Given the description of an element on the screen output the (x, y) to click on. 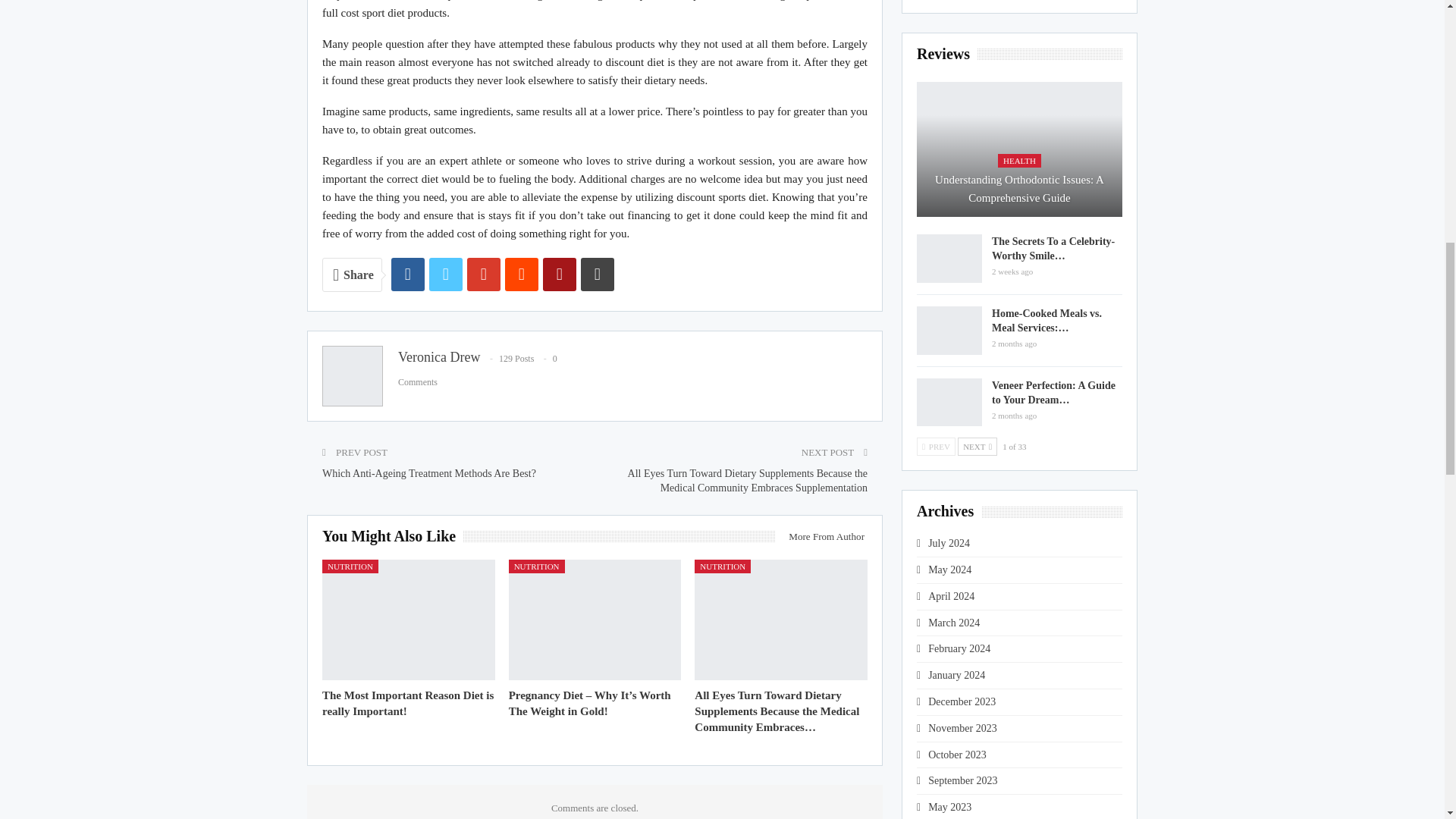
The Most Important Reason Diet is really Important! (407, 703)
The Most Important Reason Diet is really Important! (408, 619)
